Given the description of an element on the screen output the (x, y) to click on. 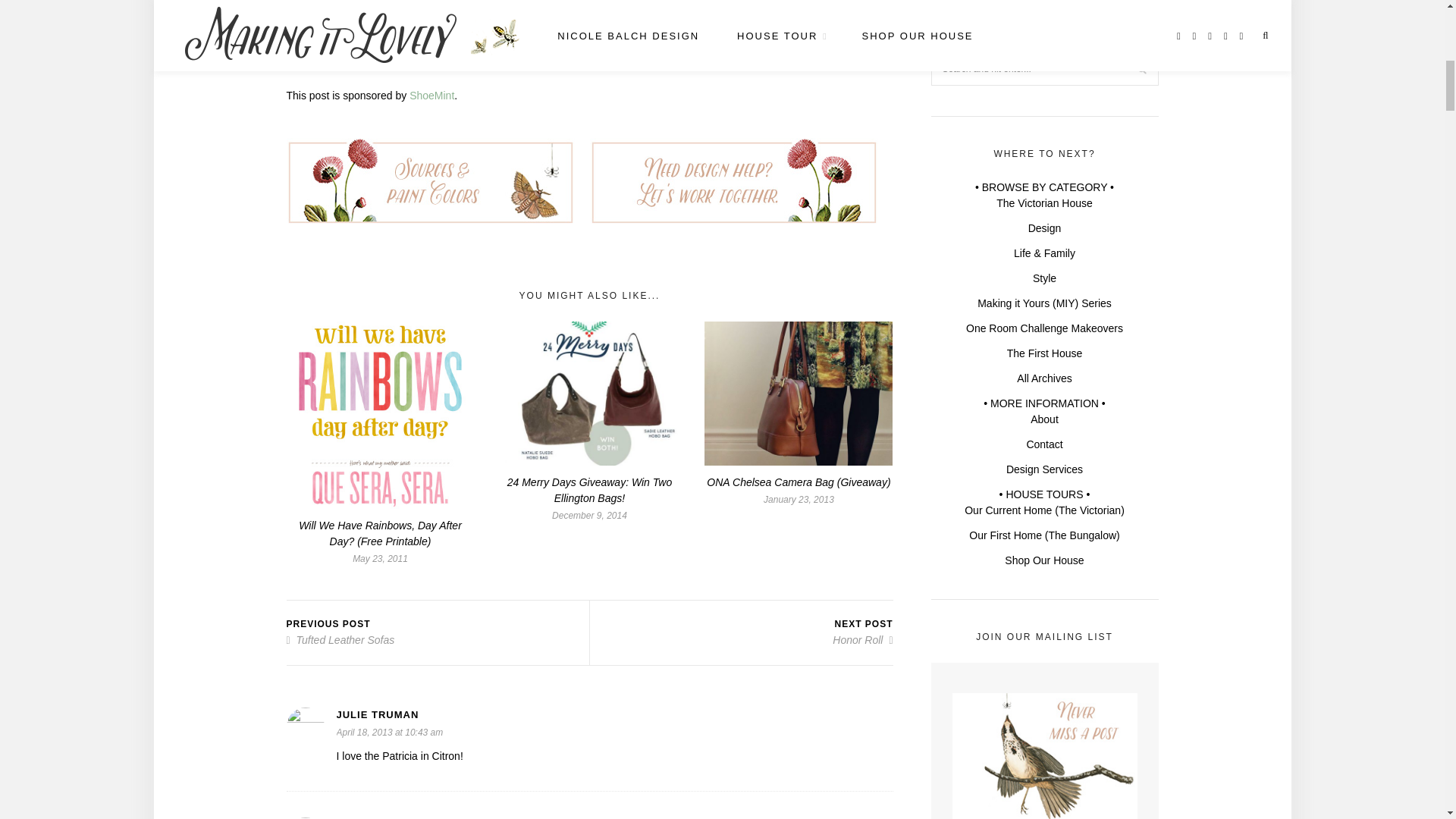
Tufted Leather Sofas (340, 639)
ShoeMint (431, 95)
Honor Roll (862, 639)
ShoeMint (431, 95)
24 Merry Days Giveaway: Win Two Ellington Bags! (588, 489)
